Given the description of an element on the screen output the (x, y) to click on. 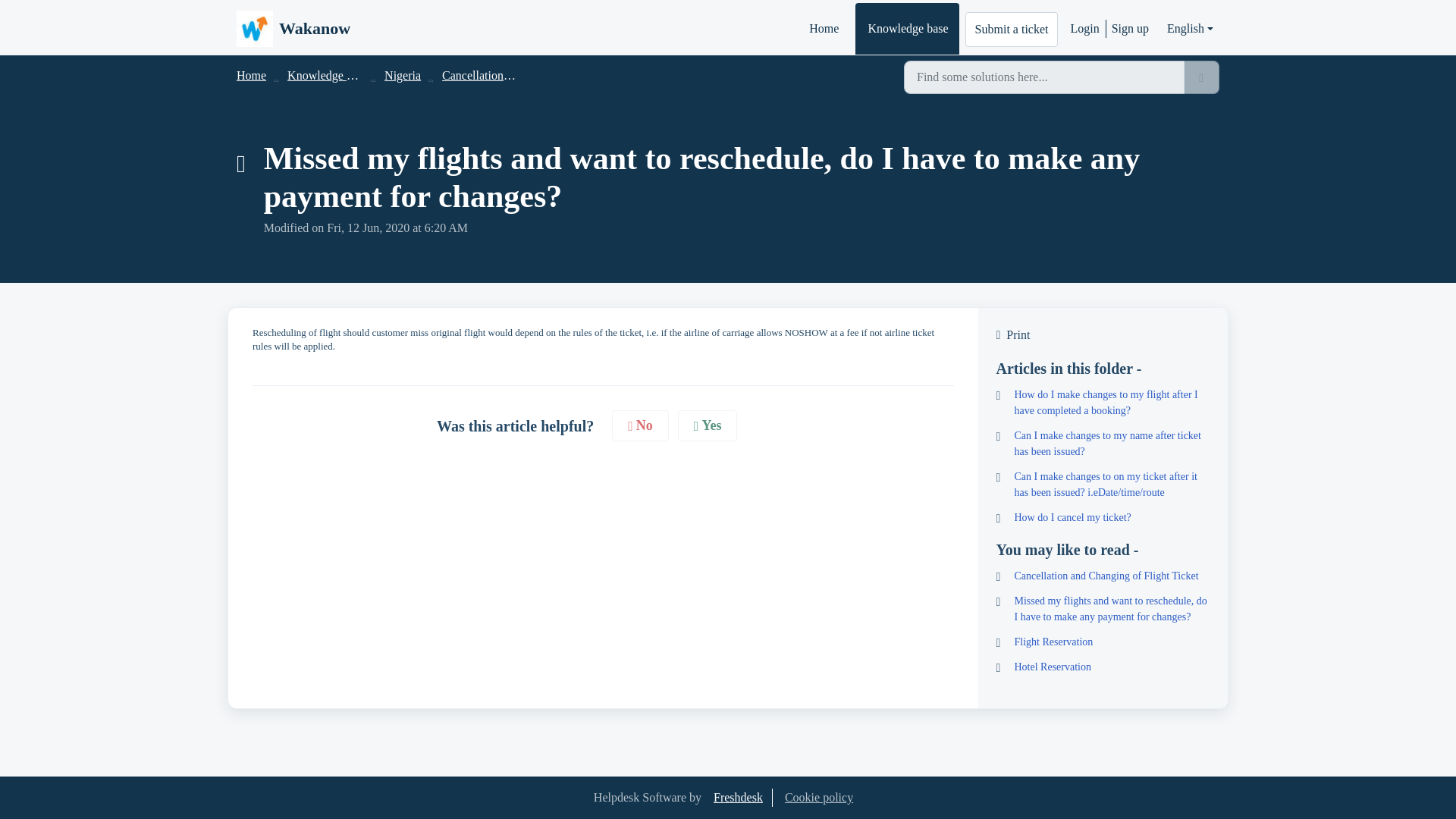
Home (250, 74)
How do I cancel my ticket? (1102, 517)
No (639, 425)
Wakanow (292, 28)
English (1189, 28)
Knowledge base (327, 74)
Flight Reservation (1102, 641)
Print (1102, 334)
Chat (1417, 779)
Home (822, 28)
Nigeria (402, 74)
Yes (708, 425)
Hotel Reservation (1102, 666)
